Given the description of an element on the screen output the (x, y) to click on. 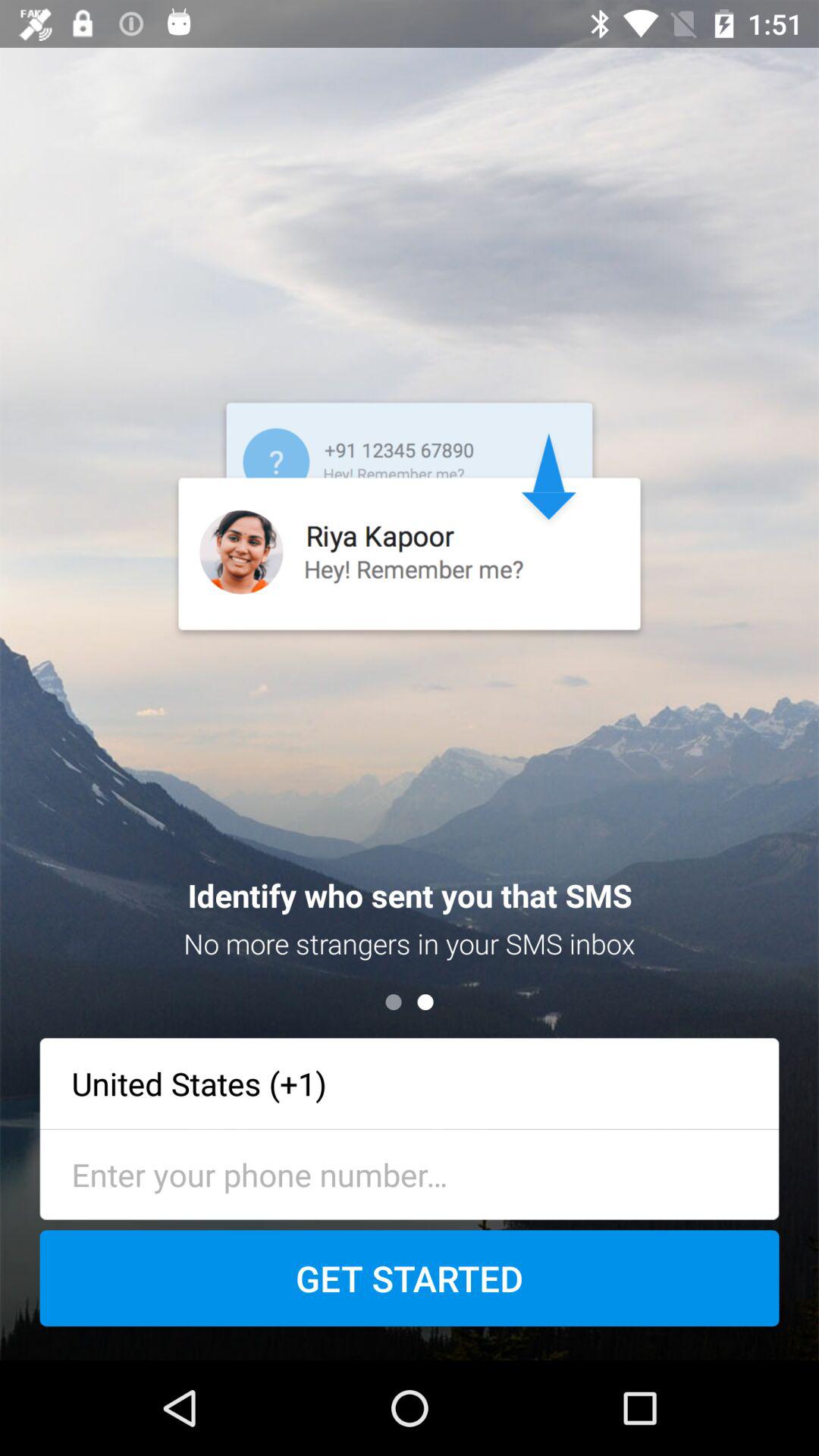
enter phone number (409, 1173)
